Given the description of an element on the screen output the (x, y) to click on. 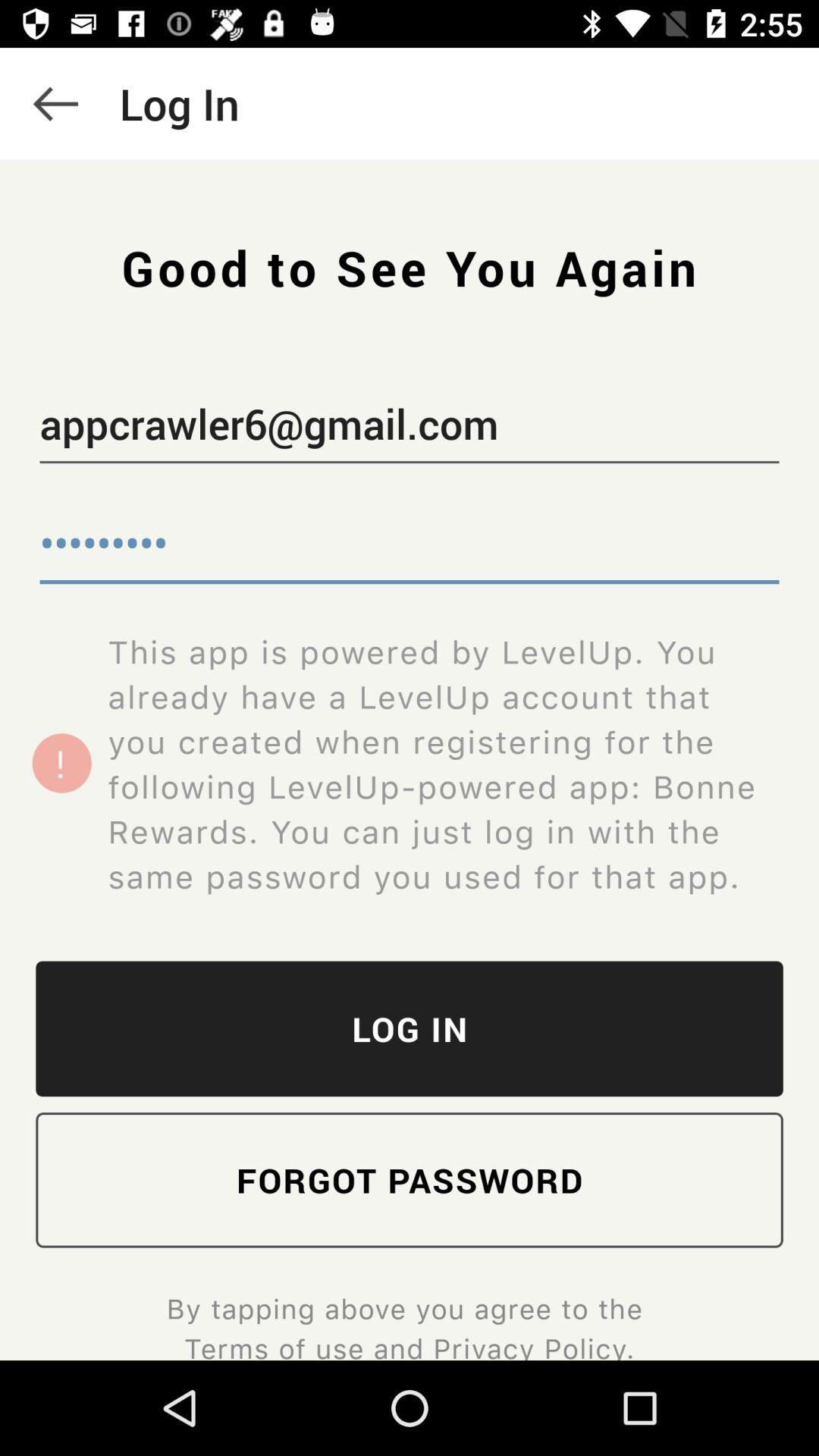
scroll to by tapping above (408, 1324)
